Given the description of an element on the screen output the (x, y) to click on. 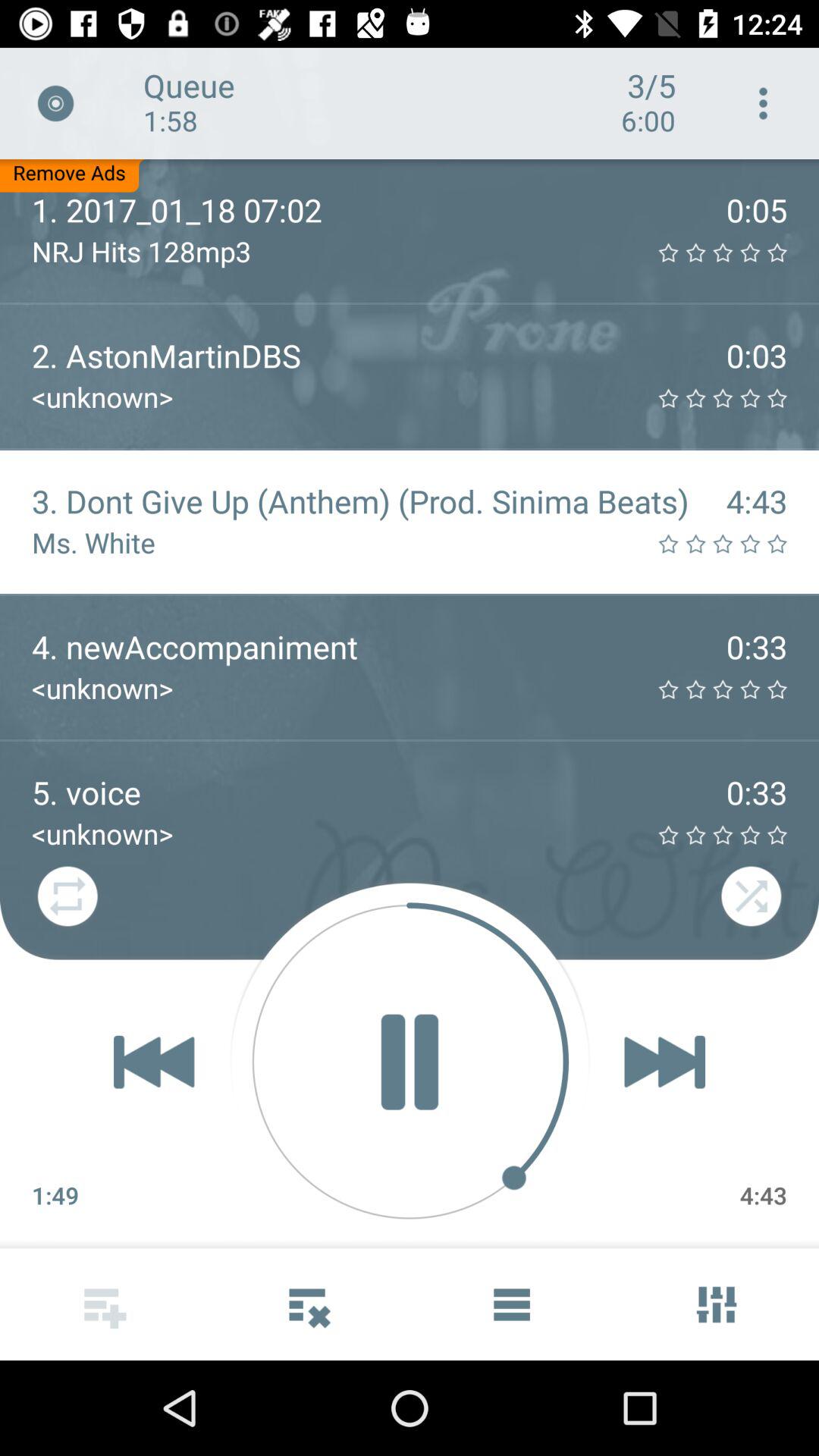
turn off the icon above the 1:49 icon (153, 1061)
